Given the description of an element on the screen output the (x, y) to click on. 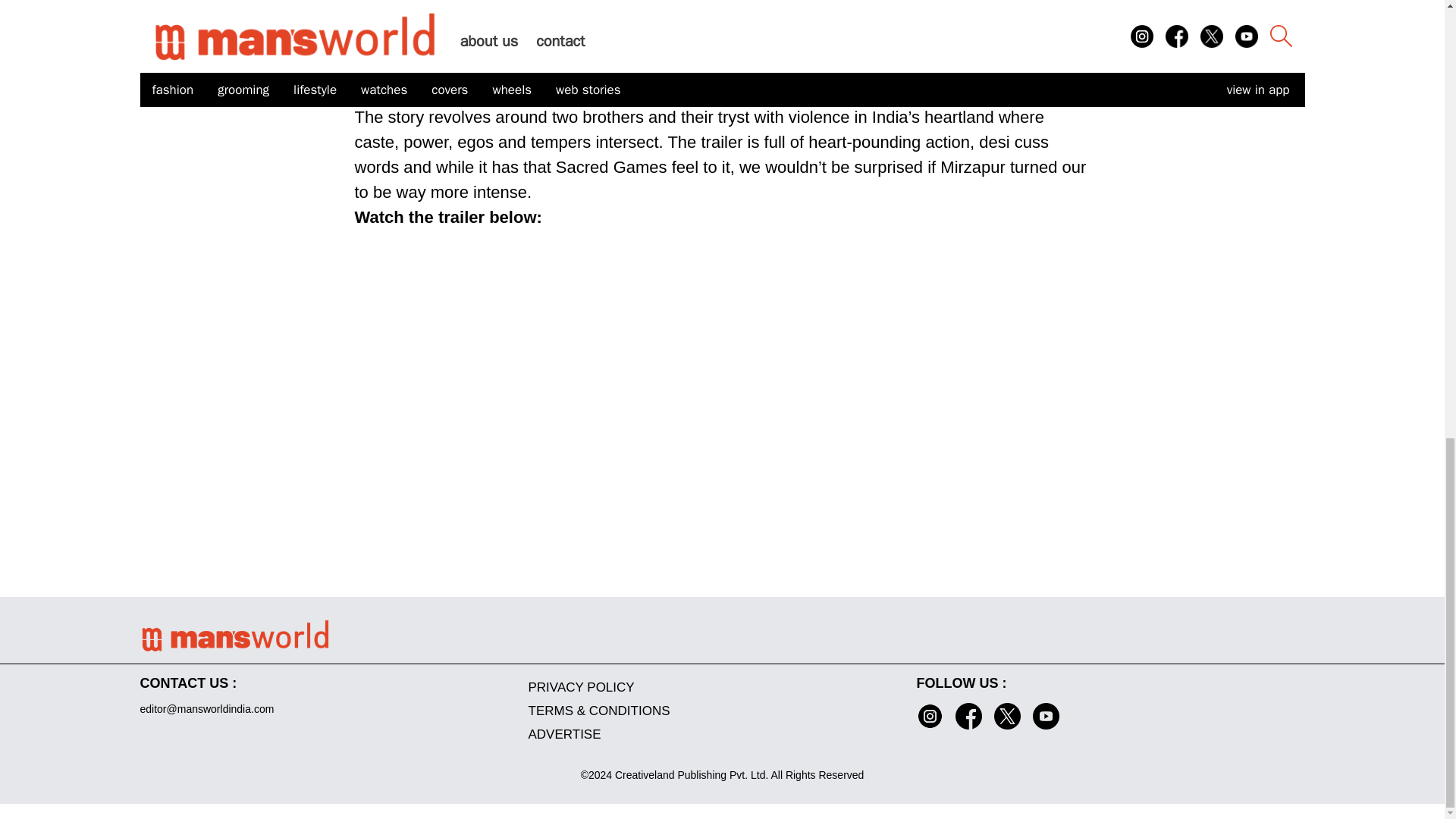
PRIVACY POLICY (721, 687)
ADVERTISE (721, 734)
